Given the description of an element on the screen output the (x, y) to click on. 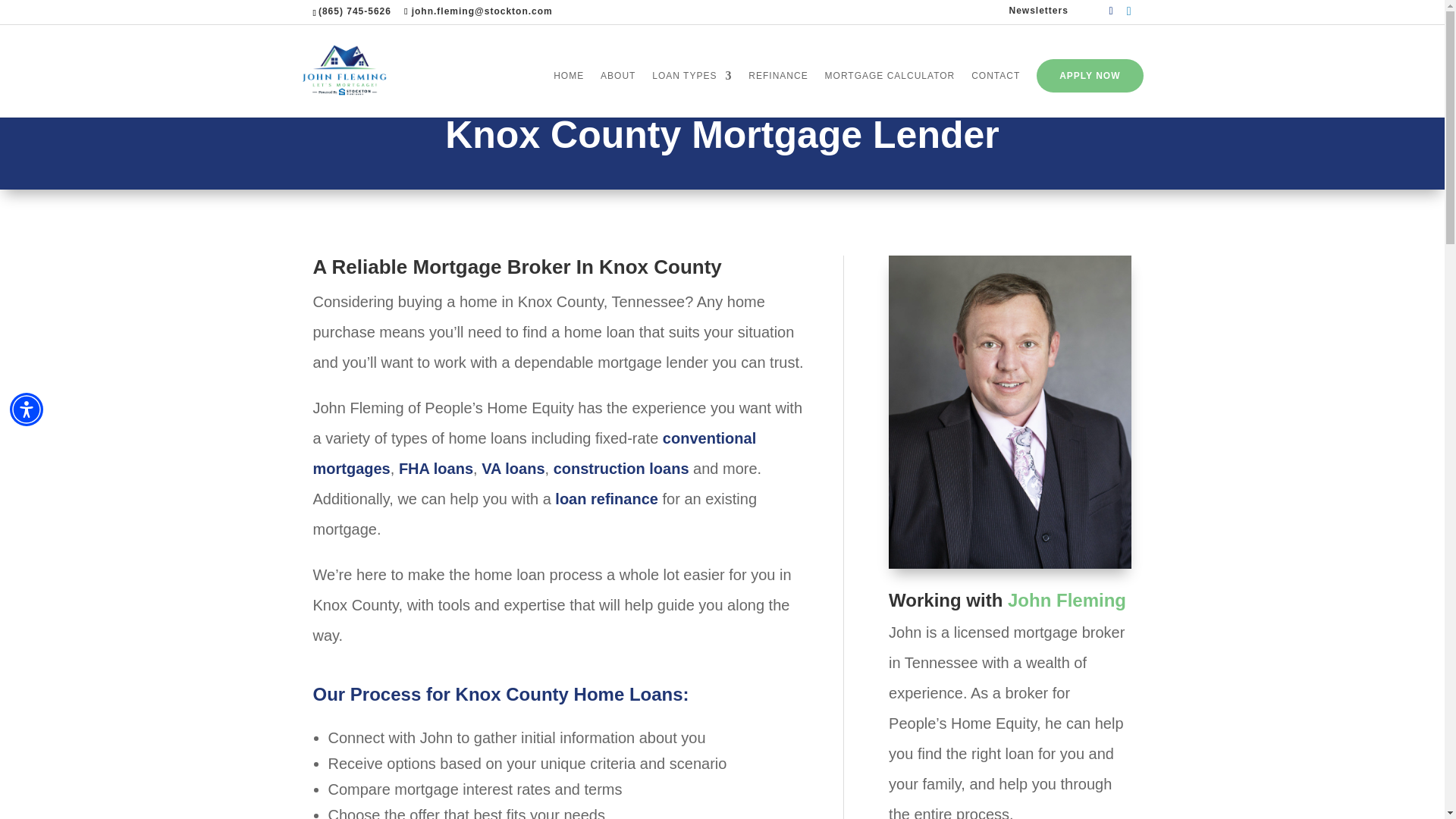
Accessibility Menu (26, 409)
Newsletters (1038, 13)
APPLY NOW (1089, 75)
MORTGAGE CALCULATOR (890, 93)
LOAN TYPES (692, 93)
CONTACT (995, 93)
conventional mortgages (534, 452)
FHA loans (435, 468)
REFINANCE (778, 93)
VA loans (512, 468)
